Given the description of an element on the screen output the (x, y) to click on. 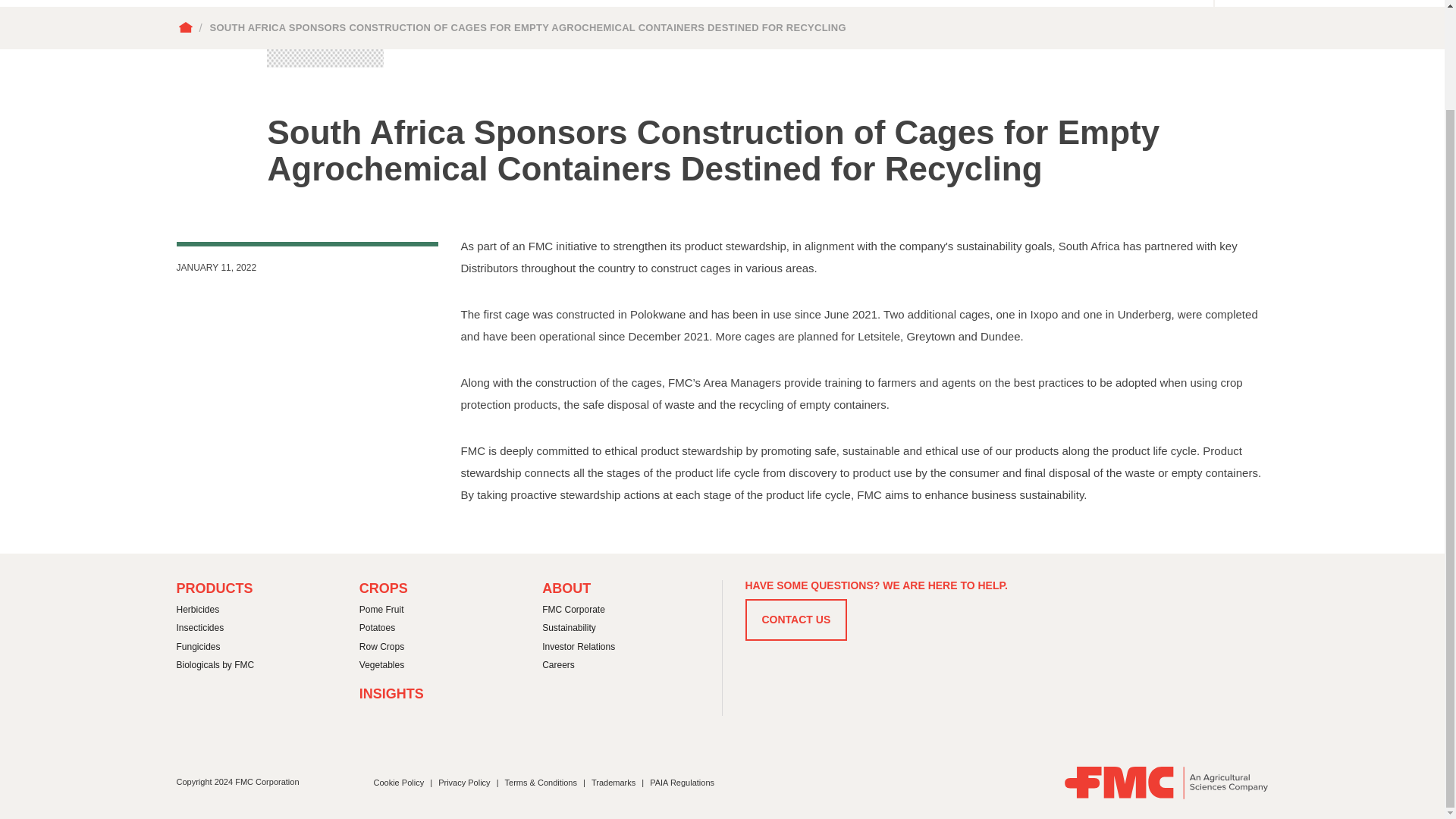
Investor Relations (578, 647)
Row Crop Products (382, 647)
ABOUT (566, 589)
Insecticides (199, 628)
Pome Fruit (382, 610)
Careers (558, 665)
Potatoes (377, 628)
Biologicals by FMC (215, 665)
PRODUCTS (214, 589)
Fungicides (197, 647)
